Given the description of an element on the screen output the (x, y) to click on. 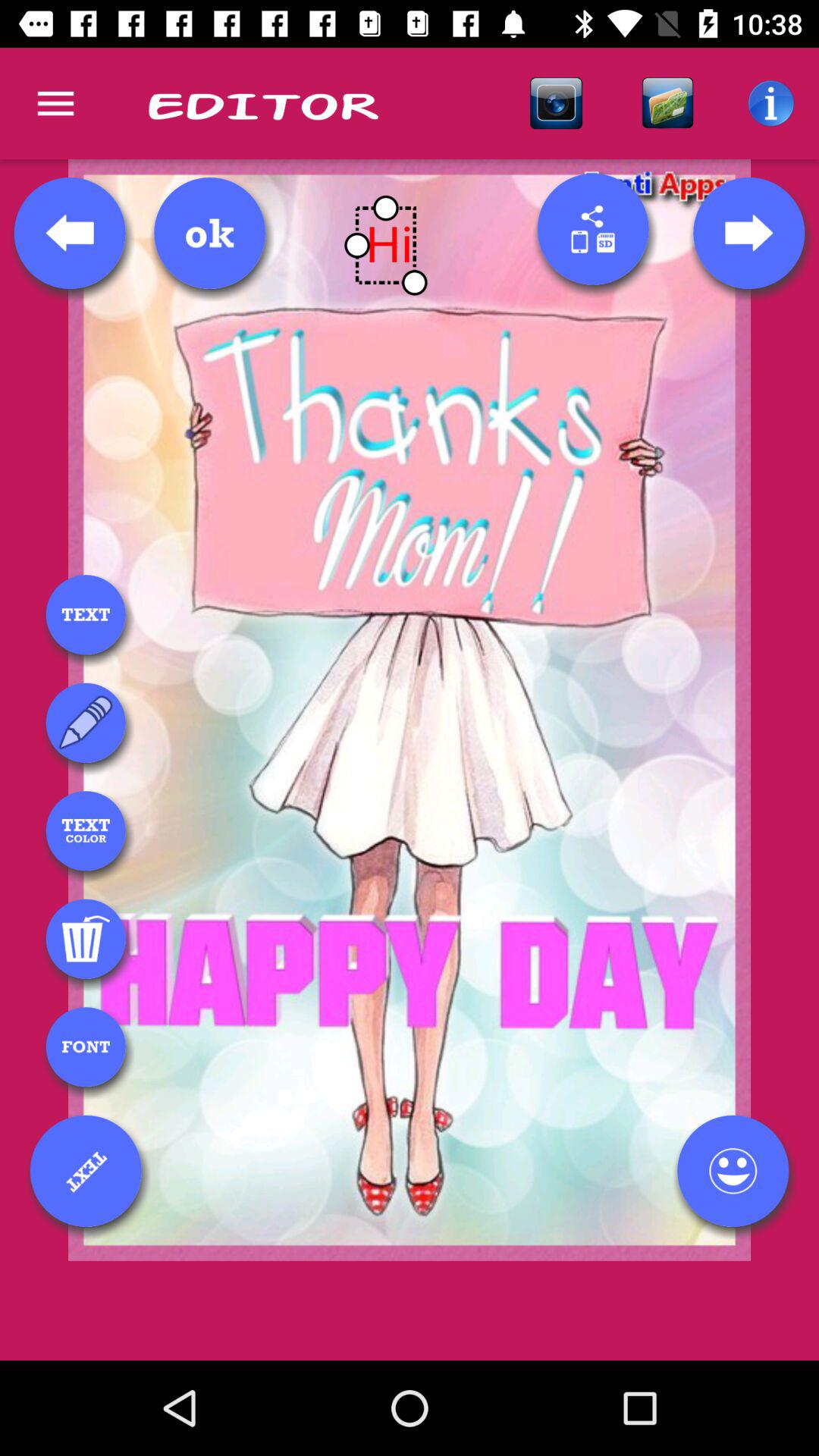
add text (85, 614)
